Given the description of an element on the screen output the (x, y) to click on. 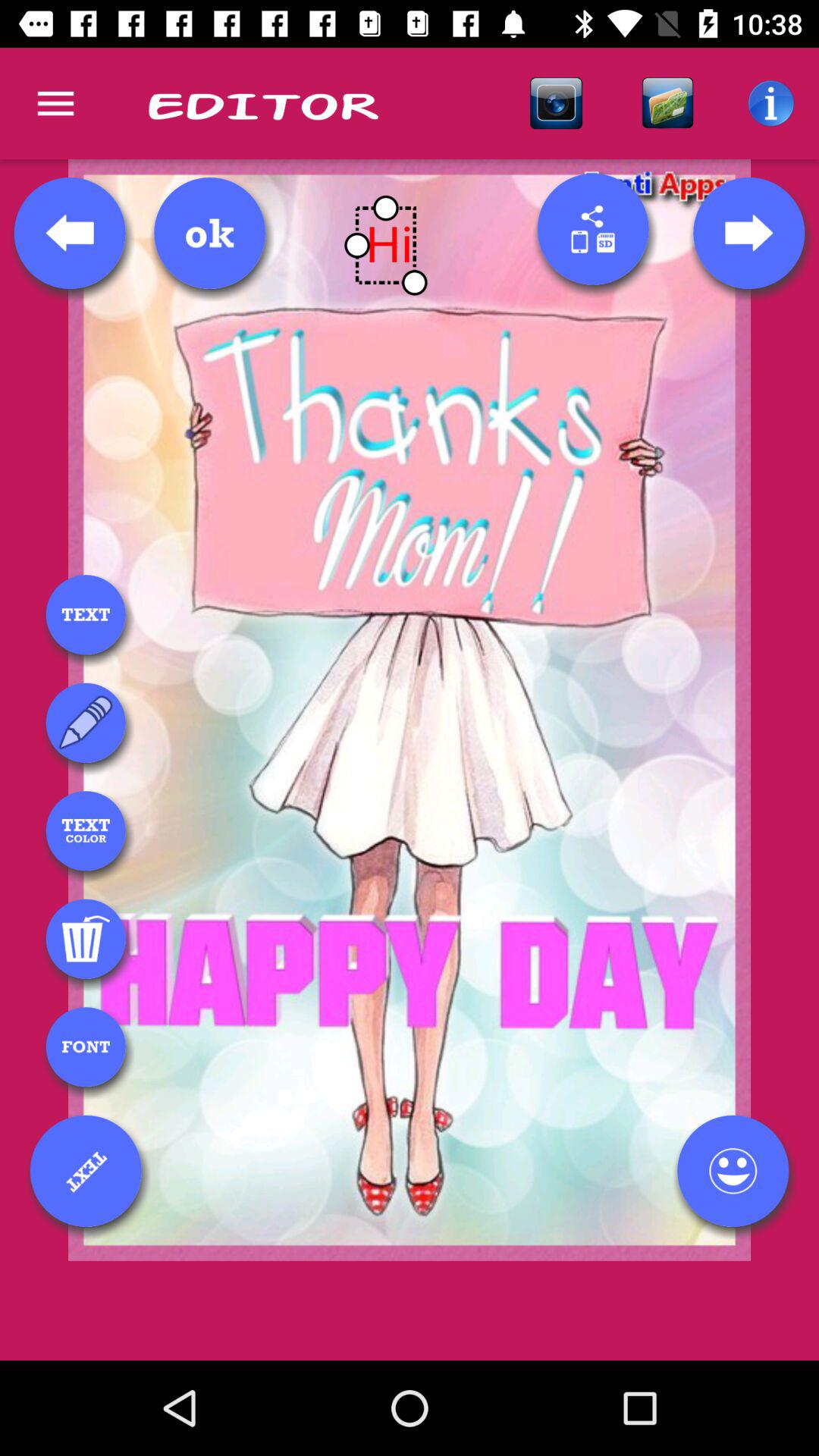
add text (85, 614)
